Given the description of an element on the screen output the (x, y) to click on. 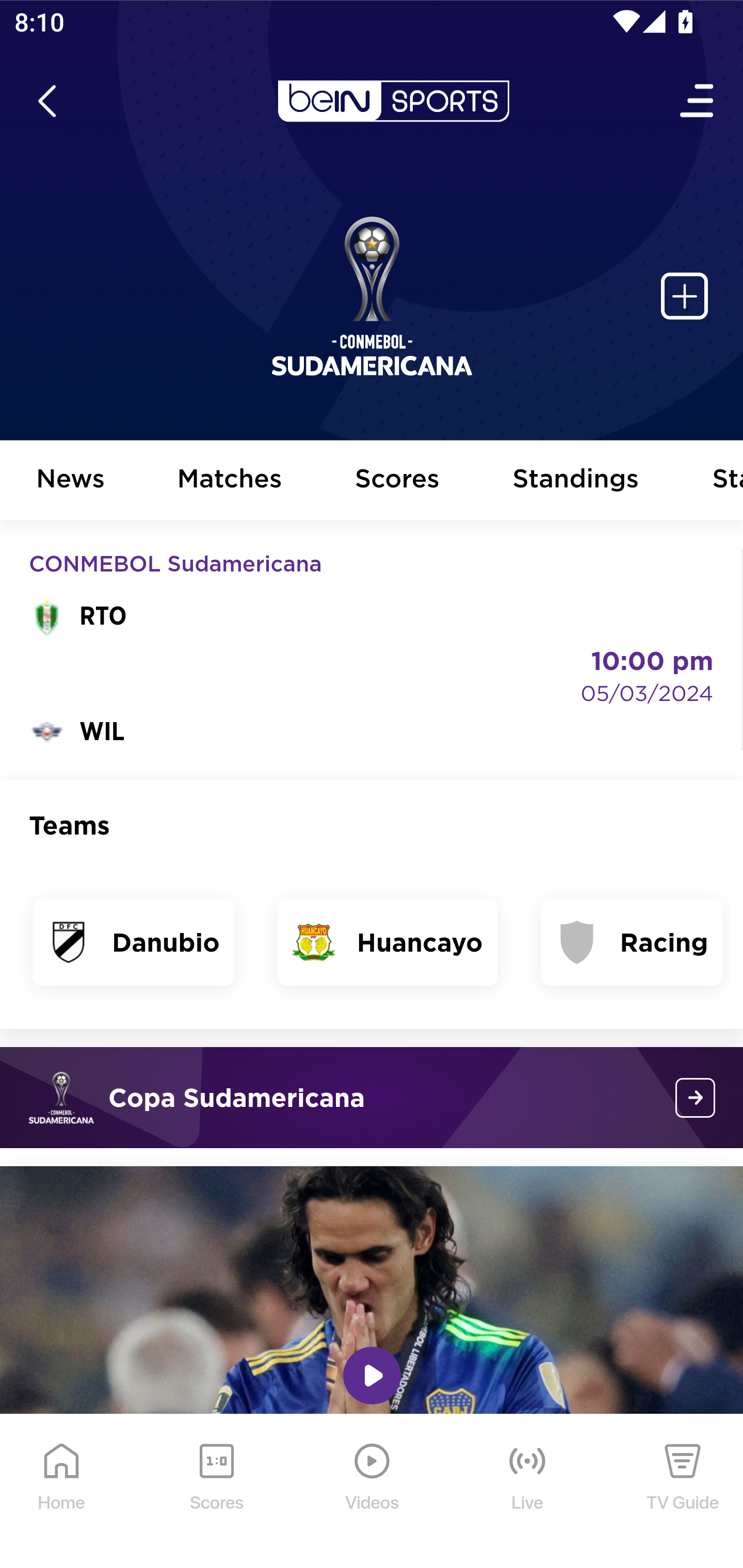
en-us?platform=mobile_android bein logo white (392, 101)
icon back (46, 101)
Open Menu Icon (697, 101)
News (70, 480)
Matches (229, 480)
Scores (397, 480)
Standings (575, 480)
Danubio Danubio Danubio (133, 942)
Huancayo Huancayo Huancayo (387, 942)
Racing (631, 942)
conmebol-sudamericana?platform=mobile_android (695, 1097)
Home Home Icon Home (61, 1491)
Scores Scores Icon Scores (216, 1491)
Videos Videos Icon Videos (372, 1491)
TV Guide TV Guide Icon TV Guide (682, 1491)
